Given the description of an element on the screen output the (x, y) to click on. 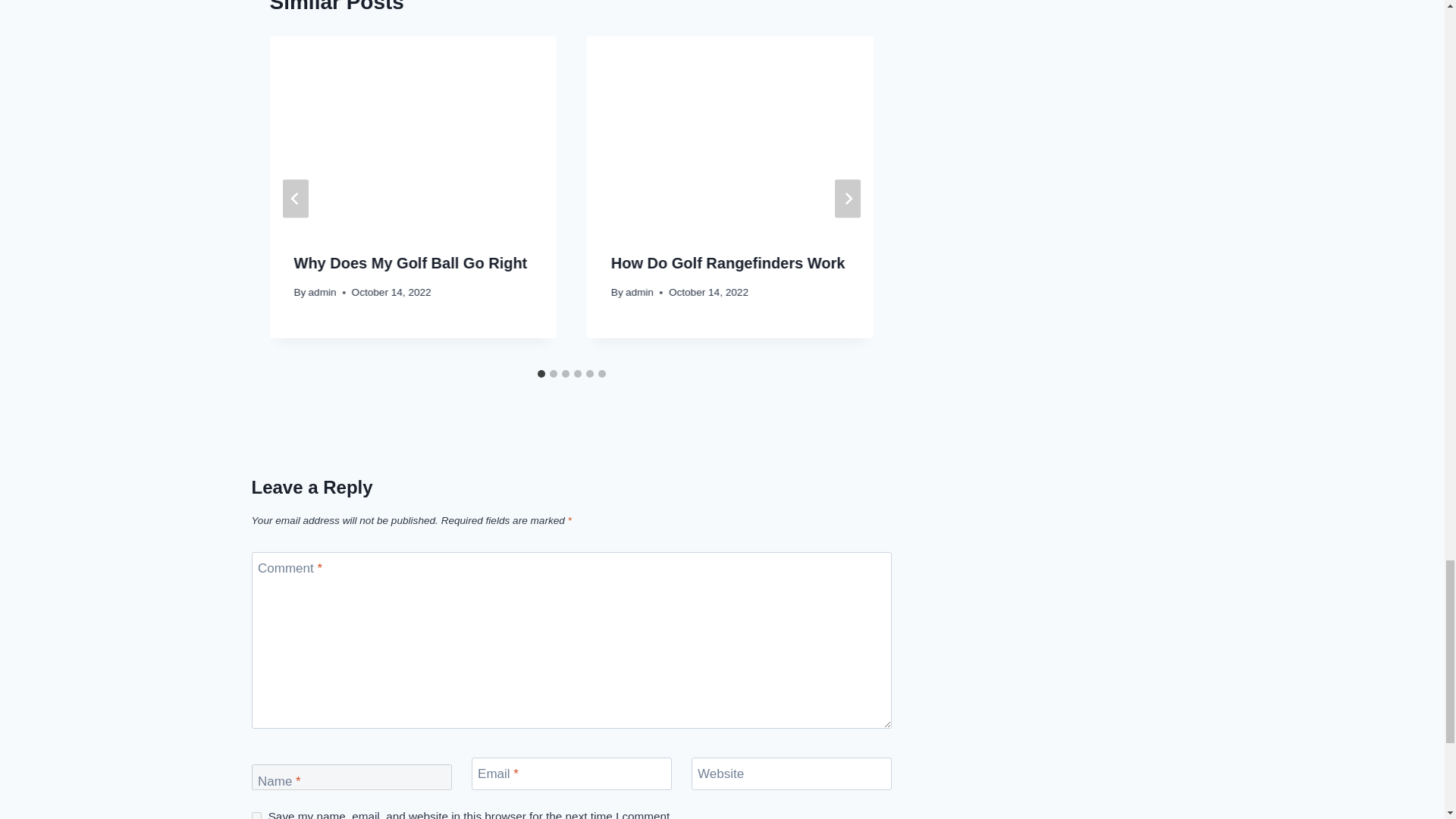
yes (256, 815)
